Given the description of an element on the screen output the (x, y) to click on. 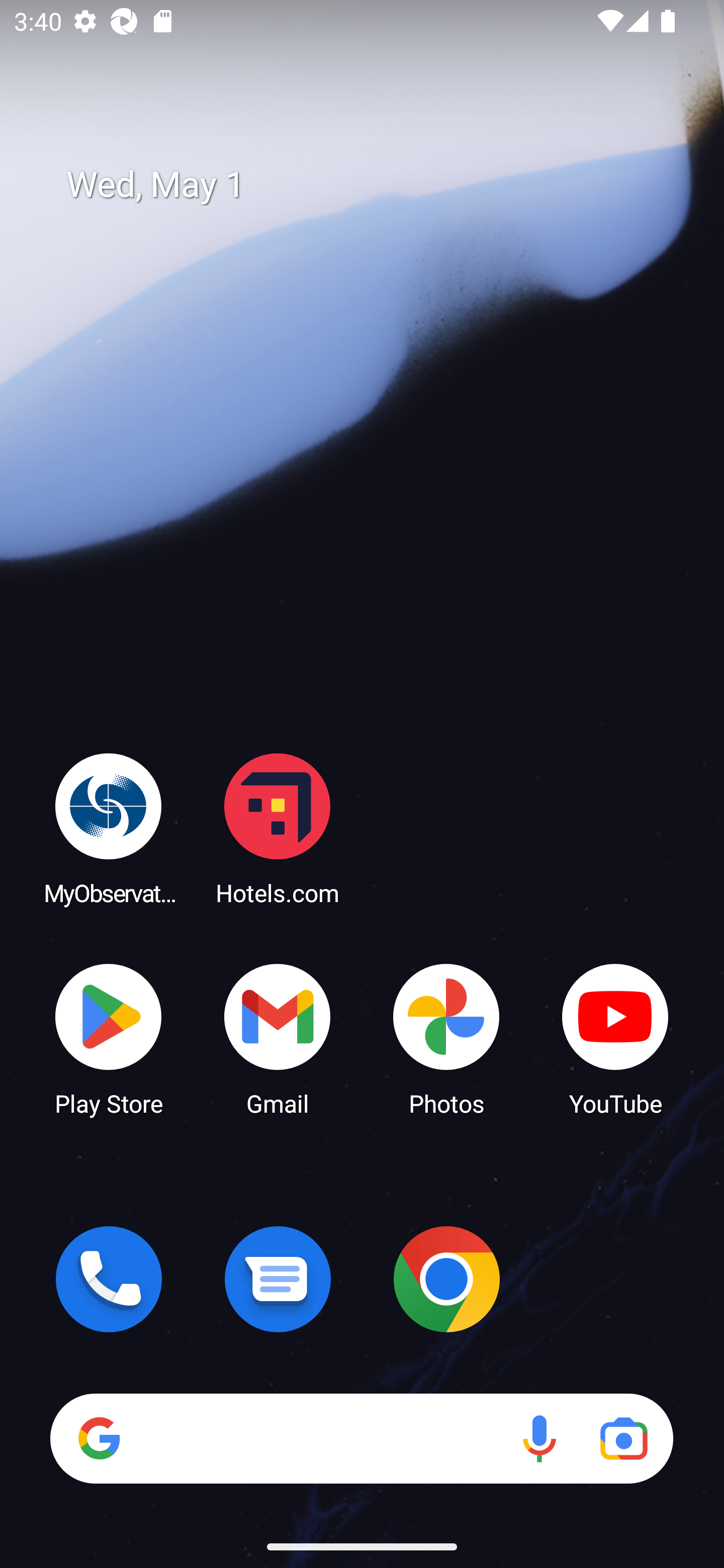
Wed, May 1 (375, 184)
MyObservatory (108, 828)
Hotels.com (277, 828)
Play Store (108, 1038)
Gmail (277, 1038)
Photos (445, 1038)
YouTube (615, 1038)
Phone (108, 1279)
Messages (277, 1279)
Chrome (446, 1279)
Search Voice search Google Lens (361, 1438)
Voice search (539, 1438)
Google Lens (623, 1438)
